Given the description of an element on the screen output the (x, y) to click on. 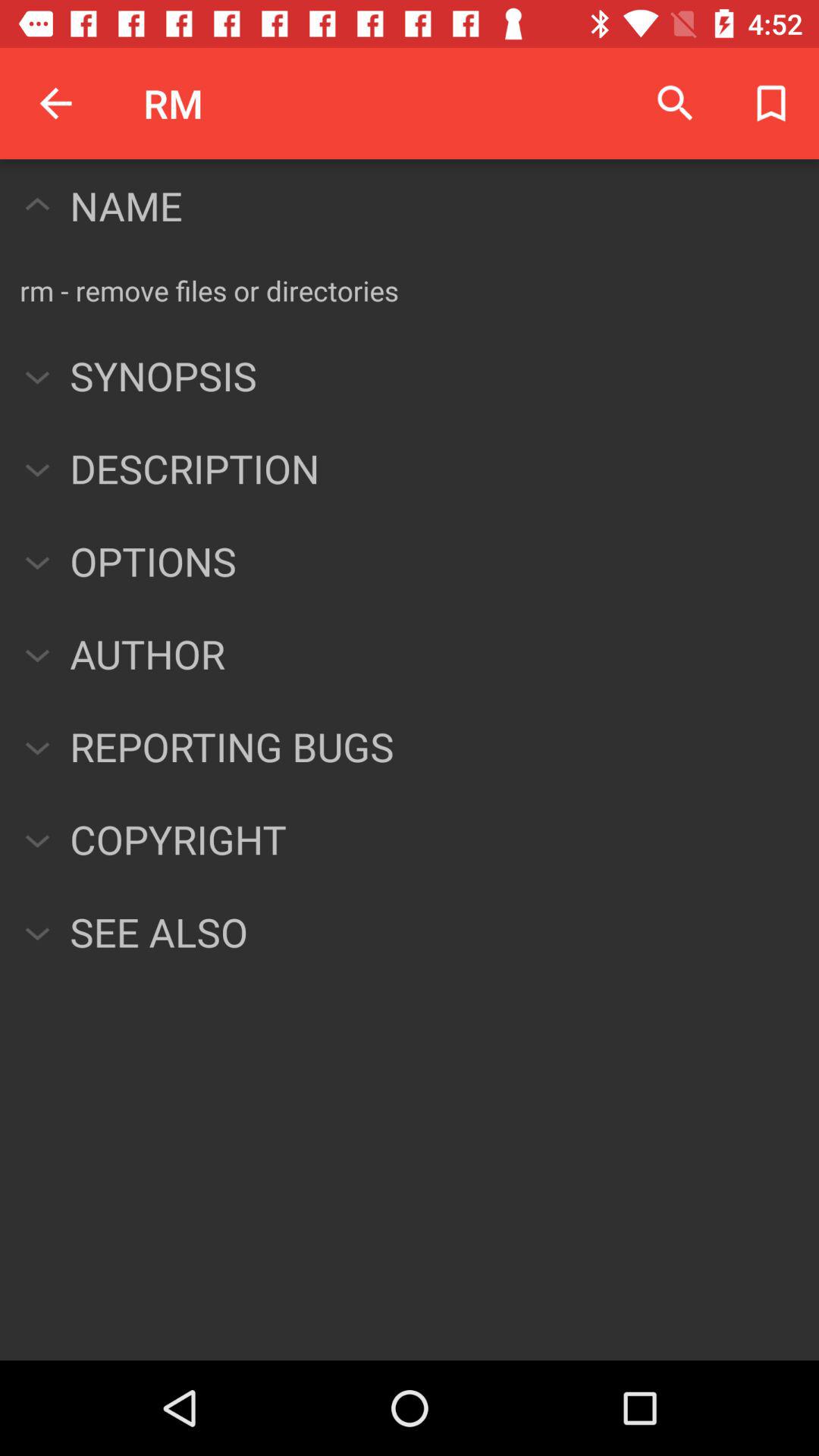
click the item next to rm icon (675, 103)
